Given the description of an element on the screen output the (x, y) to click on. 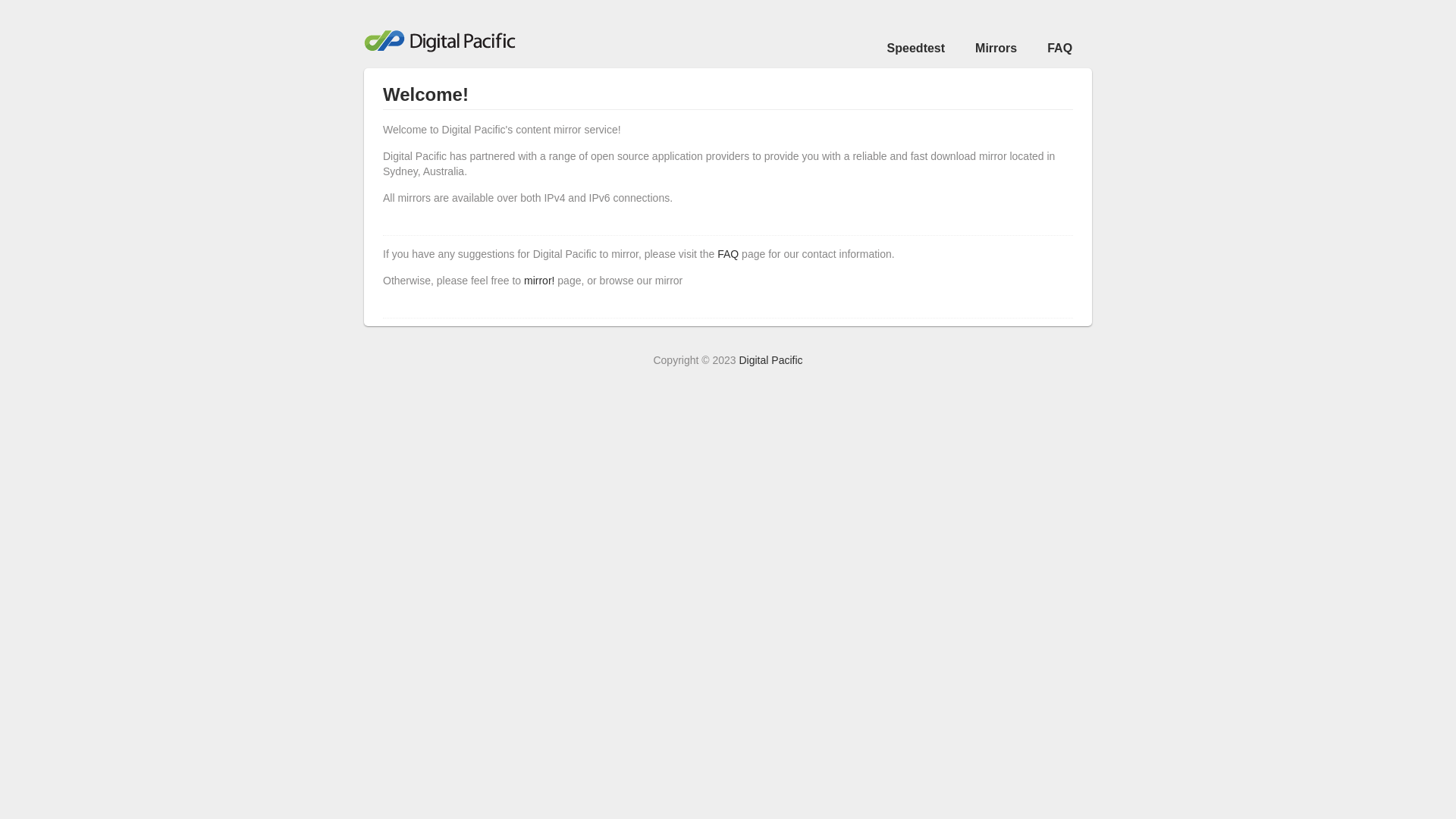
Speedtest Element type: text (915, 47)
Digital Pacific Element type: text (770, 360)
mirror! Element type: text (539, 280)
FAQ Element type: text (1059, 47)
FAQ Element type: text (727, 253)
Mirrors Element type: text (995, 47)
